Given the description of an element on the screen output the (x, y) to click on. 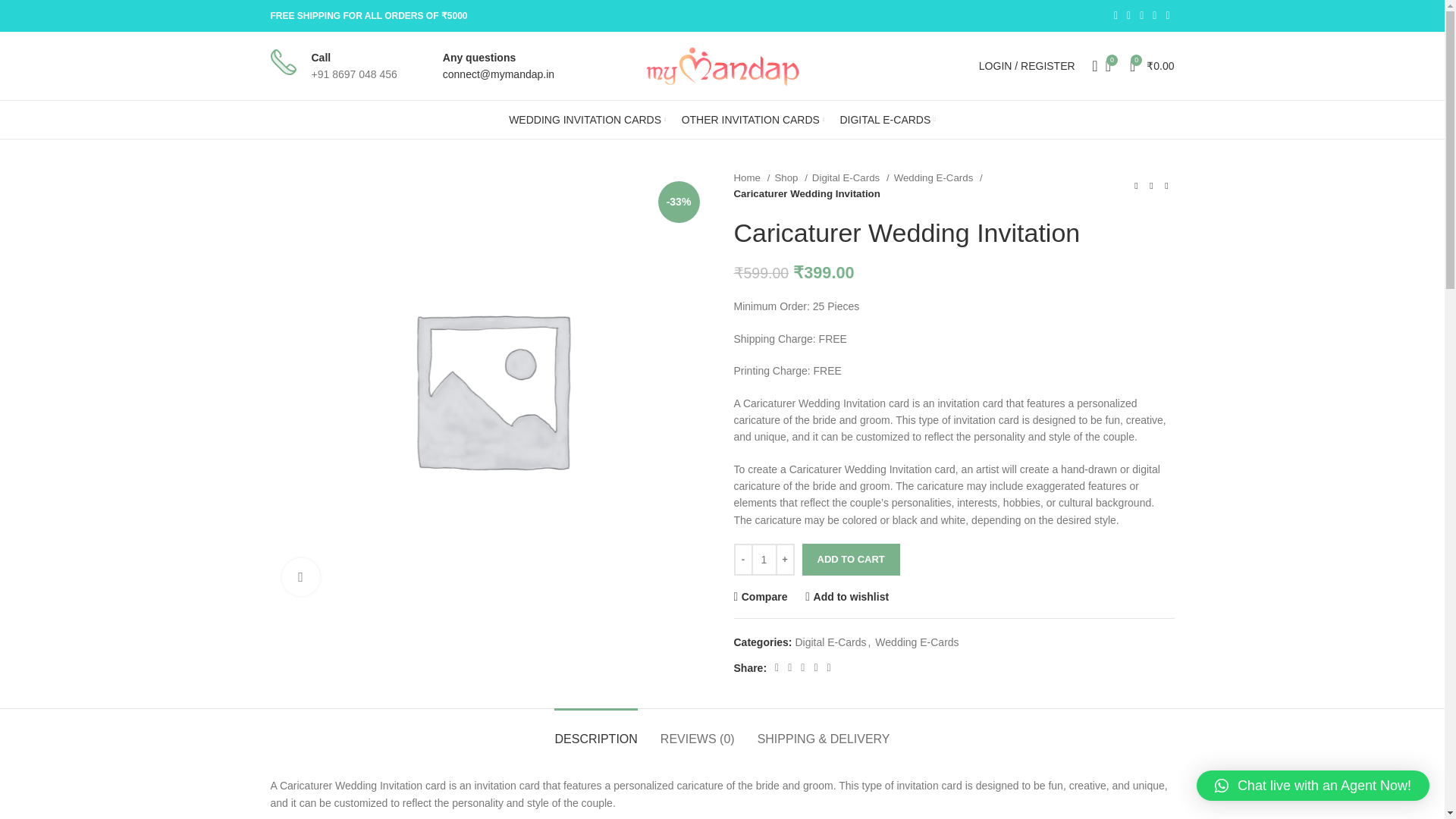
0 (1107, 65)
- (742, 559)
Search (1090, 65)
Qty (763, 559)
Shopping cart (1152, 65)
1 (763, 559)
WEDDING INVITATION CARDS (587, 119)
My Wishlist (1107, 65)
My account (1027, 65)
DIGITAL E-CARDS (887, 119)
OTHER INVITATION CARDS (753, 119)
